Given the description of an element on the screen output the (x, y) to click on. 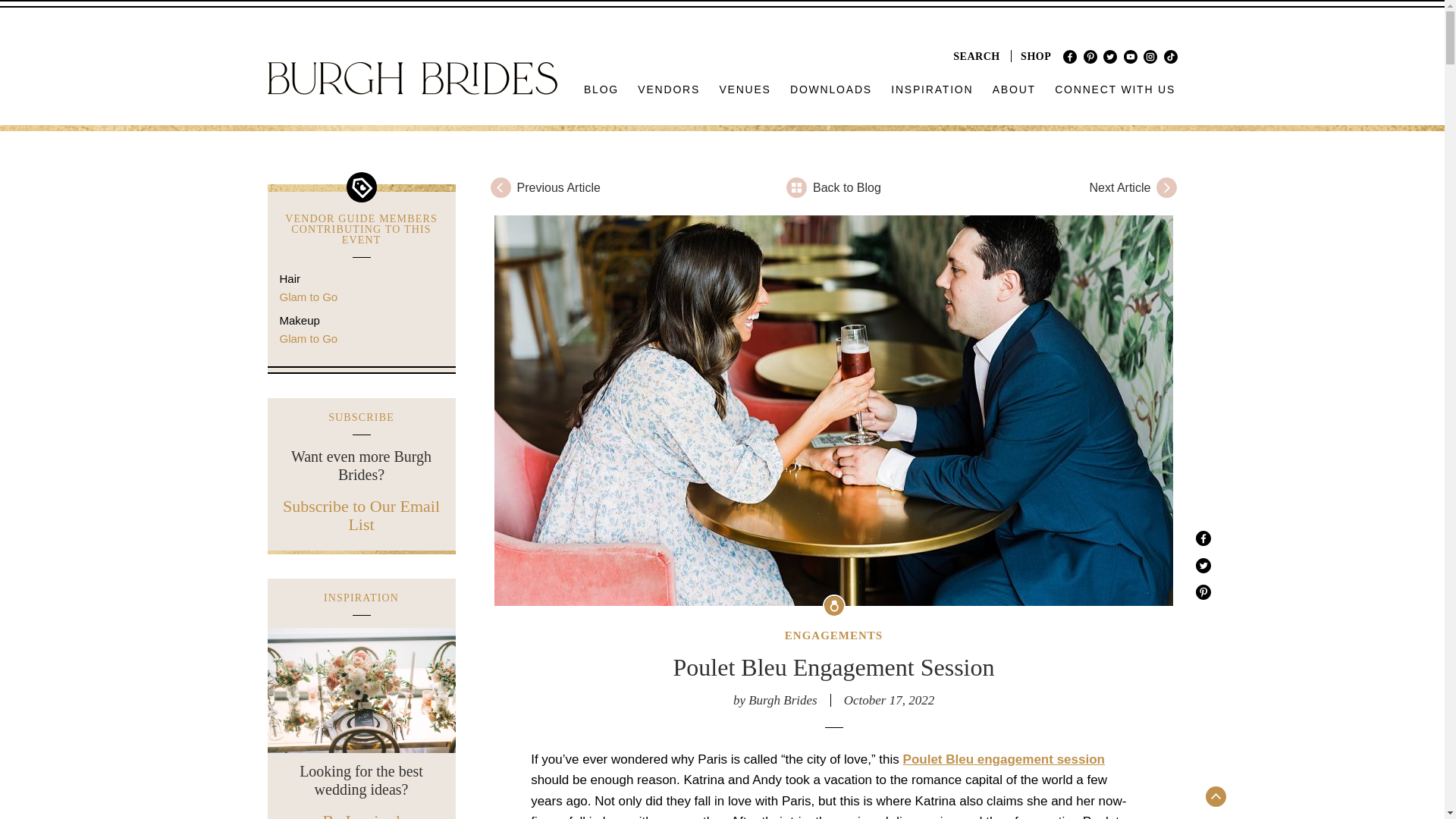
Facebook (1069, 56)
Instagram (1149, 56)
Youtube (1130, 56)
VENDORS (668, 89)
SEARCH (976, 56)
BLOG (601, 89)
SHOP (1035, 56)
VENUES (745, 89)
Previous Article (604, 187)
ABOUT (1013, 89)
Pinterest (1090, 56)
INSPIRATION (932, 89)
TikTok (1169, 56)
DOWNLOADS (832, 89)
Twitter (1109, 56)
